Given the description of an element on the screen output the (x, y) to click on. 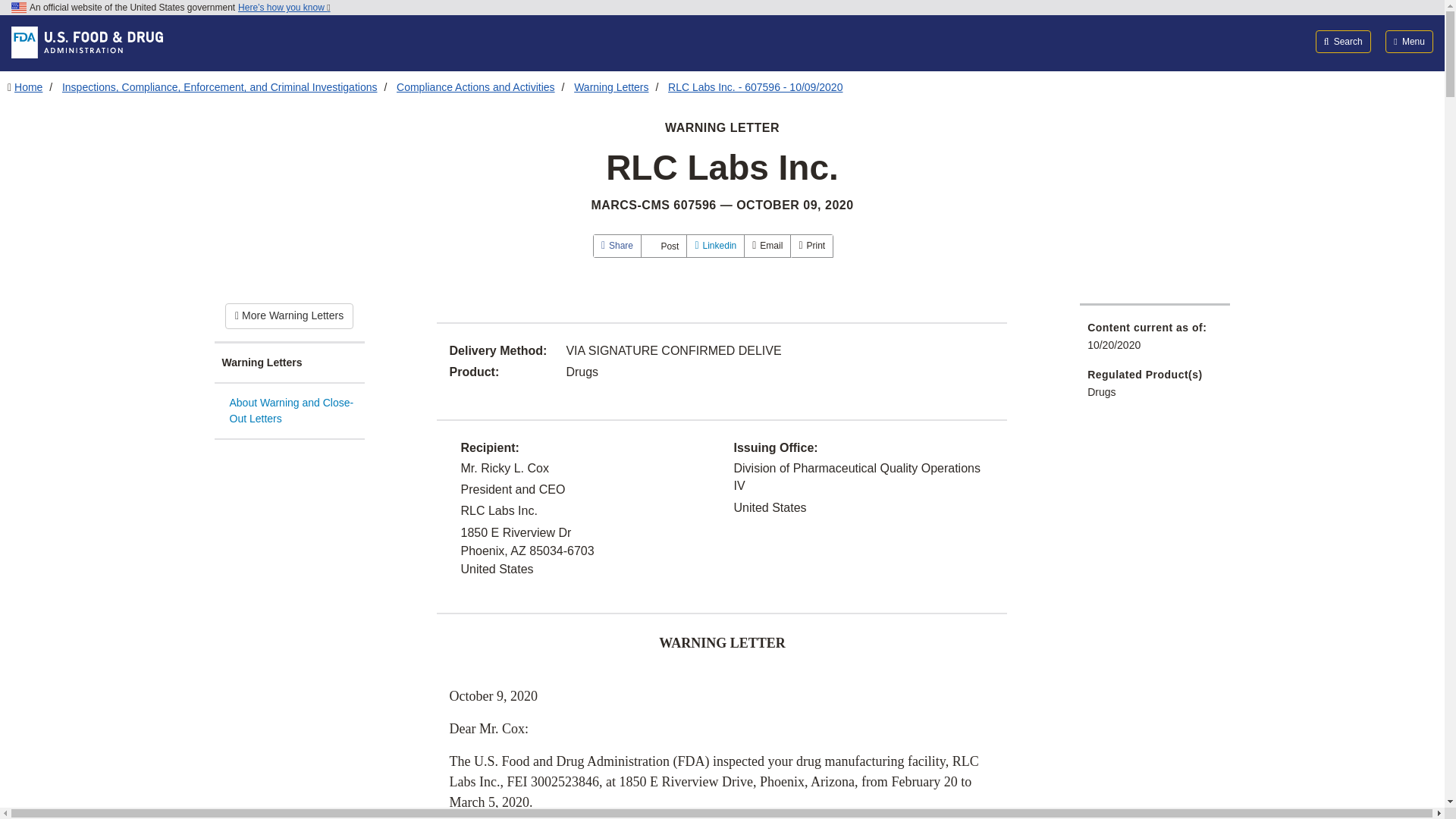
  Search (1343, 41)
Warning Letters (289, 363)
  Menu (1409, 41)
Print this page (811, 245)
